Given the description of an element on the screen output the (x, y) to click on. 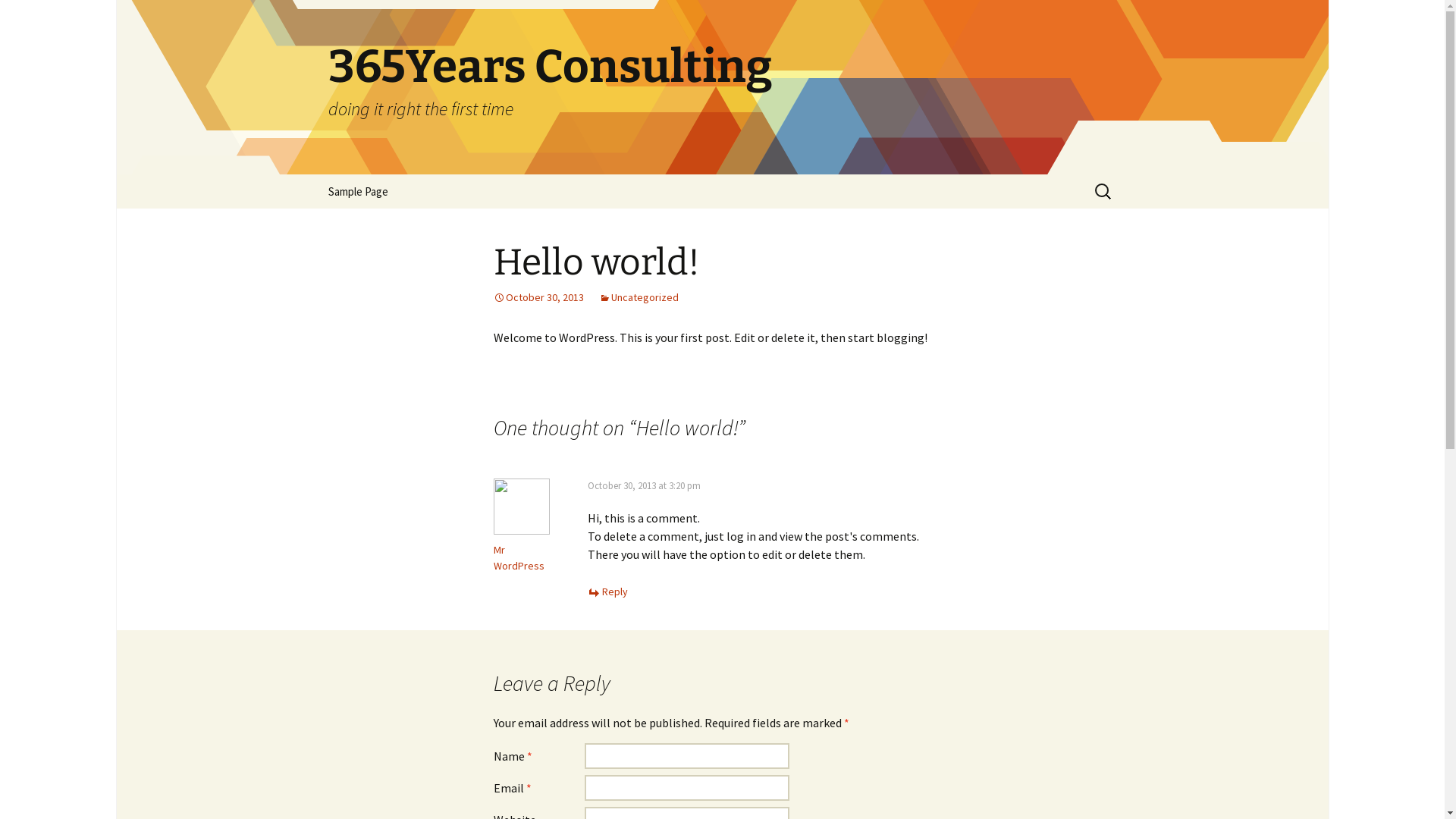
Search for: Element type: hover (1103, 191)
October 30, 2013 at 3:20 pm Element type: text (642, 485)
Skip to content Element type: text (352, 183)
Reply Element type: text (606, 591)
Uncategorized Element type: text (638, 297)
Search Element type: text (18, 16)
365Years Consulting
doing it right the first time Element type: text (721, 87)
Search Element type: text (34, 15)
Sample Page Element type: text (357, 191)
Mr WordPress Element type: text (517, 557)
October 30, 2013 Element type: text (537, 297)
